Given the description of an element on the screen output the (x, y) to click on. 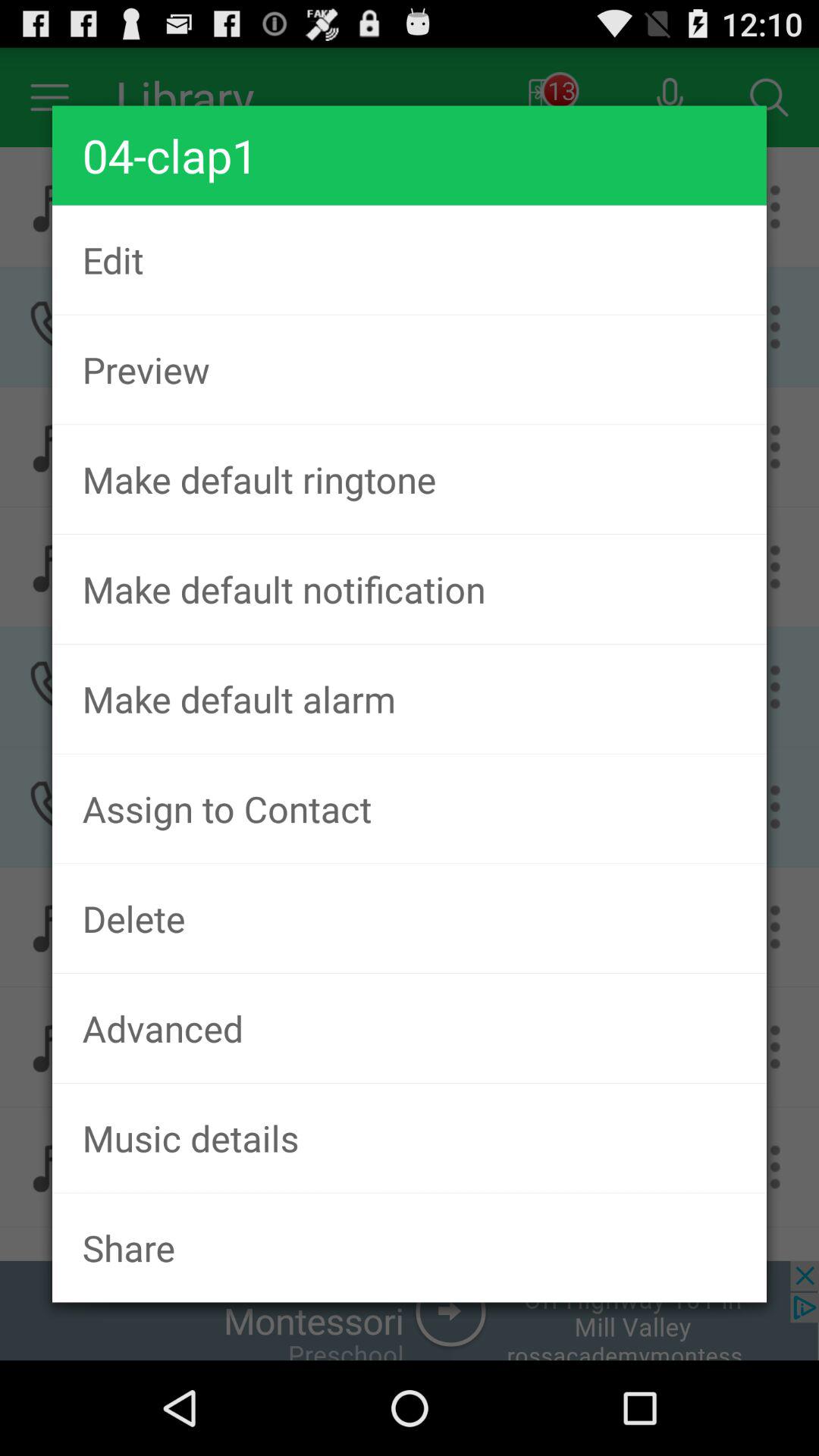
scroll to the preview item (409, 369)
